Given the description of an element on the screen output the (x, y) to click on. 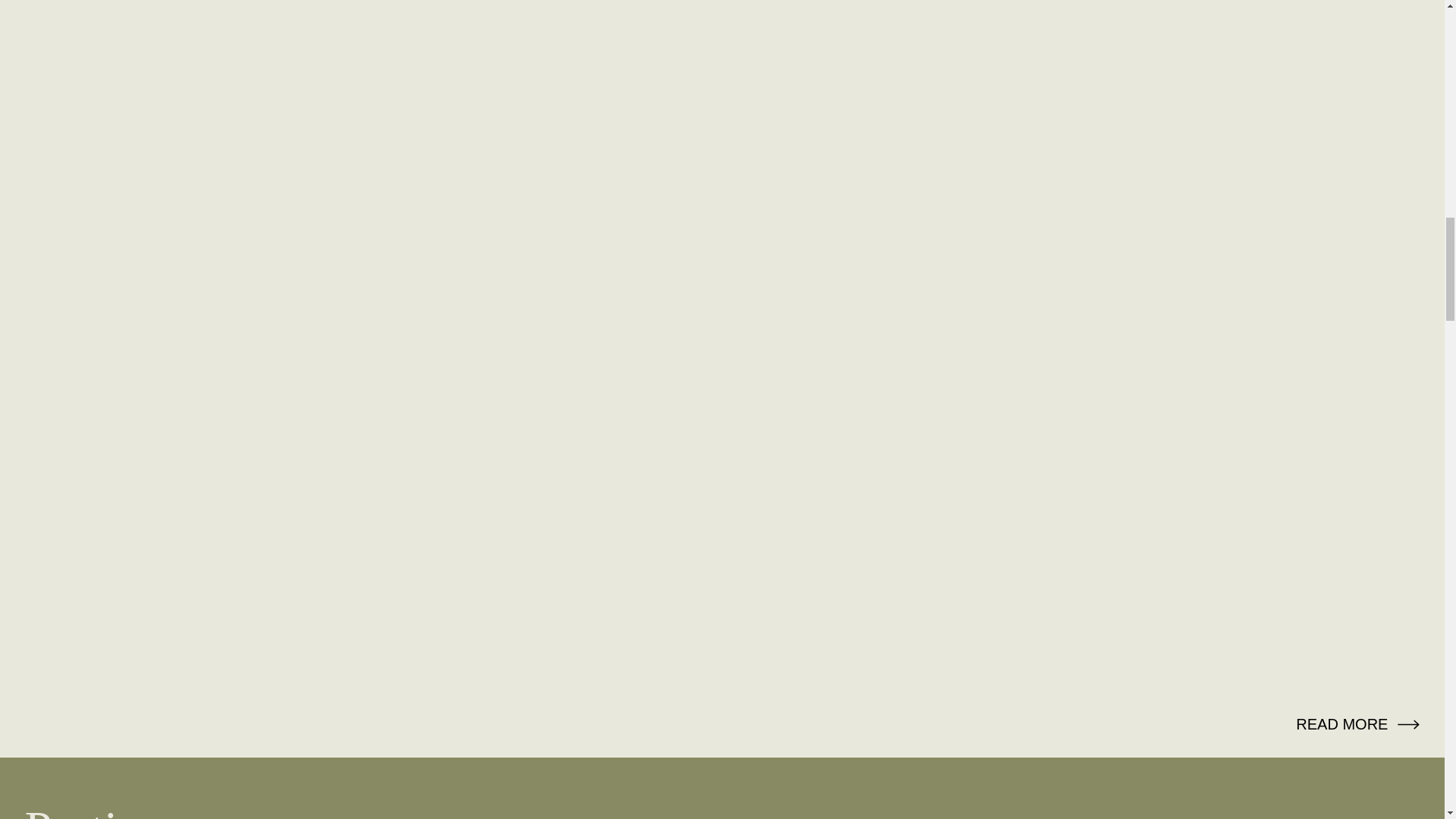
READ MORE (1357, 723)
